Given the description of an element on the screen output the (x, y) to click on. 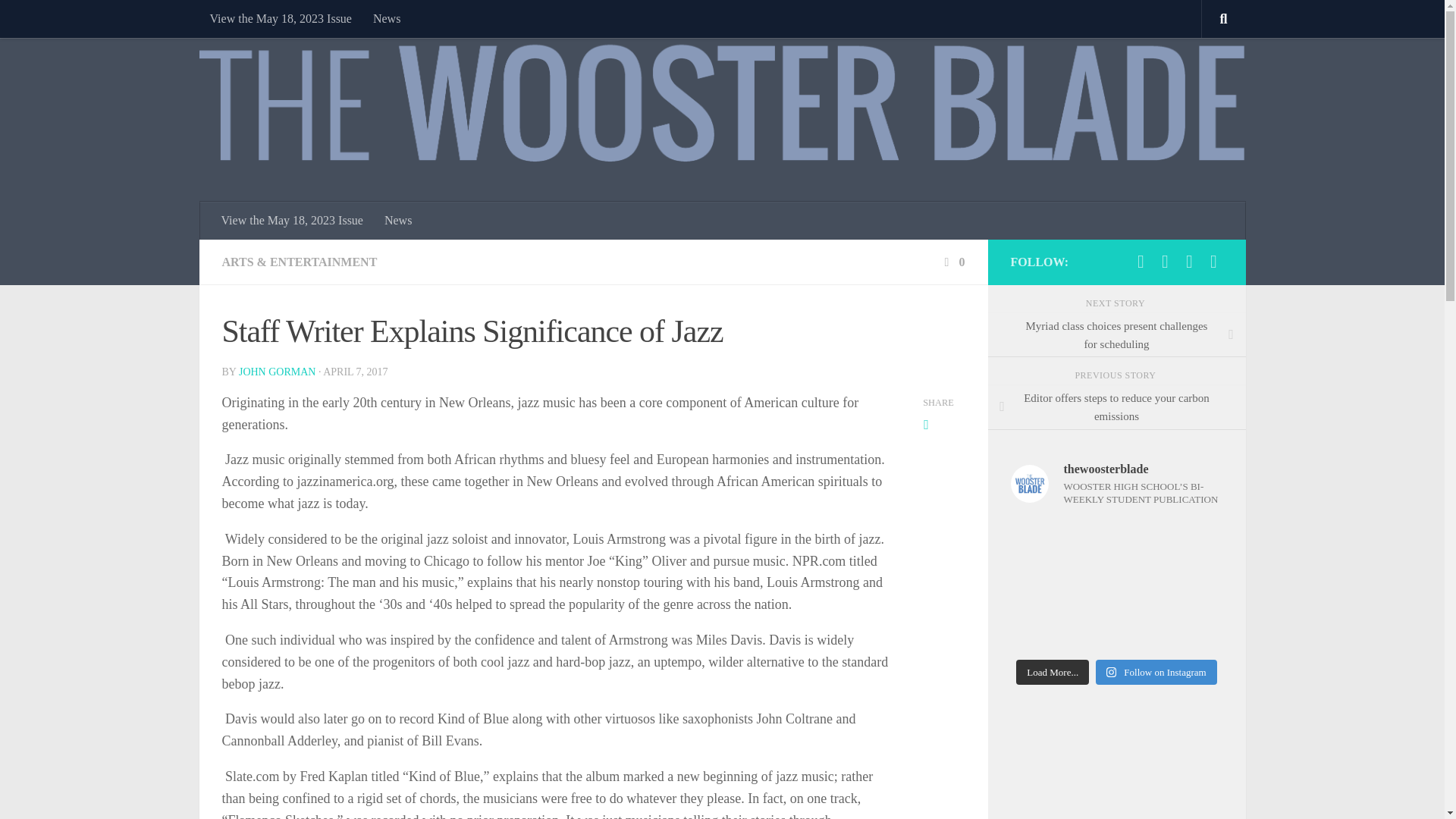
Follow us on Facebook (1140, 261)
0 (951, 261)
JOHN GORMAN (276, 371)
Myriad class choices present challenges for scheduling (1115, 334)
Follow us on Twitter (1164, 261)
News (386, 18)
Skip to content (59, 20)
Editor offers steps to reduce your carbon emissions (1115, 406)
Follow us on Instagram (1213, 261)
Posts by John Gorman (276, 371)
Follow us on Pinterest (1188, 261)
View the May 18, 2023 Issue (279, 18)
News (398, 220)
View the May 18, 2023 Issue (292, 220)
